Given the description of an element on the screen output the (x, y) to click on. 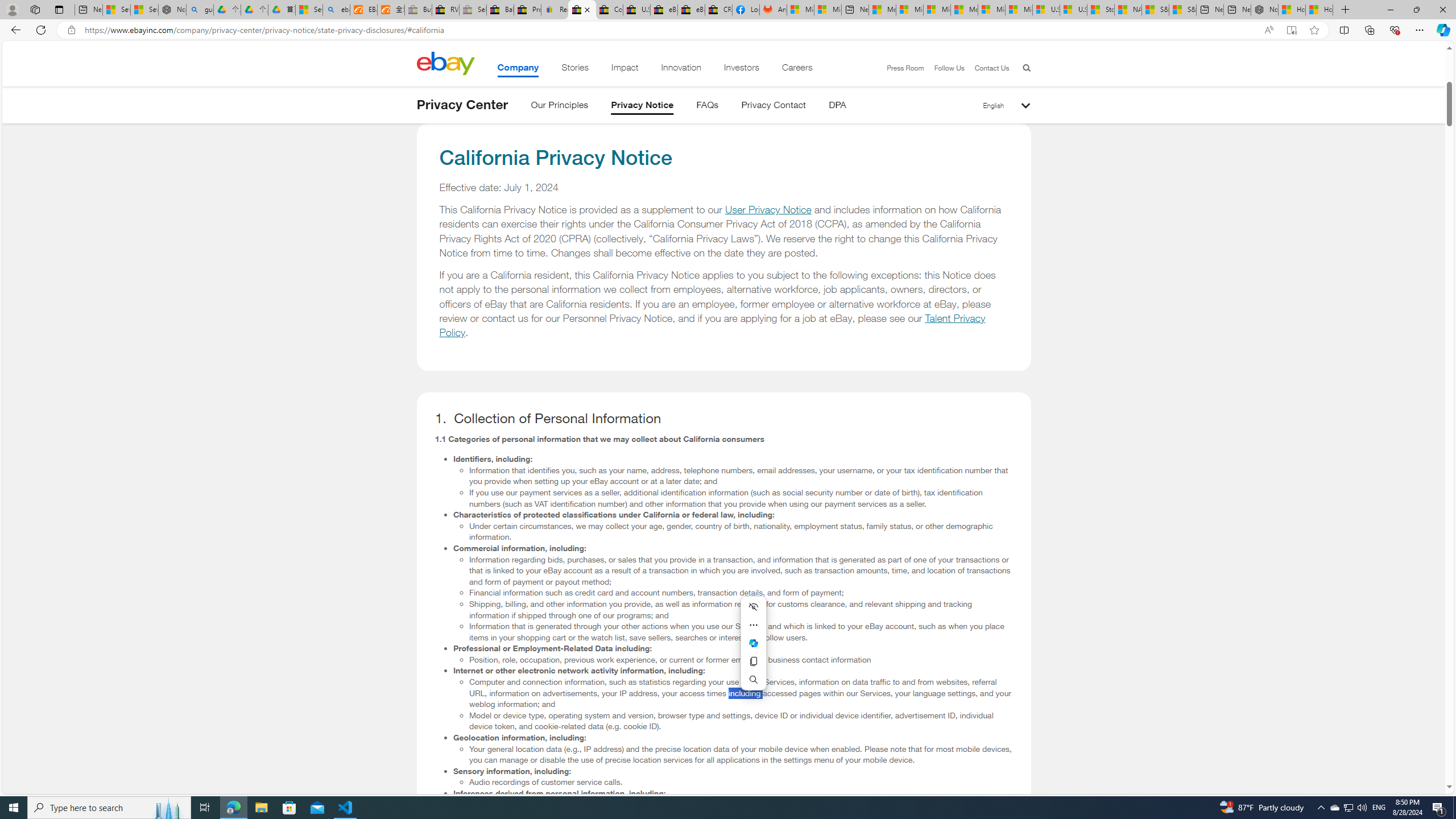
Audio recordings of customer service calls. (740, 781)
Talent Privacy Policy (712, 325)
Microsoft account | Privacy (909, 9)
